Given the description of an element on the screen output the (x, y) to click on. 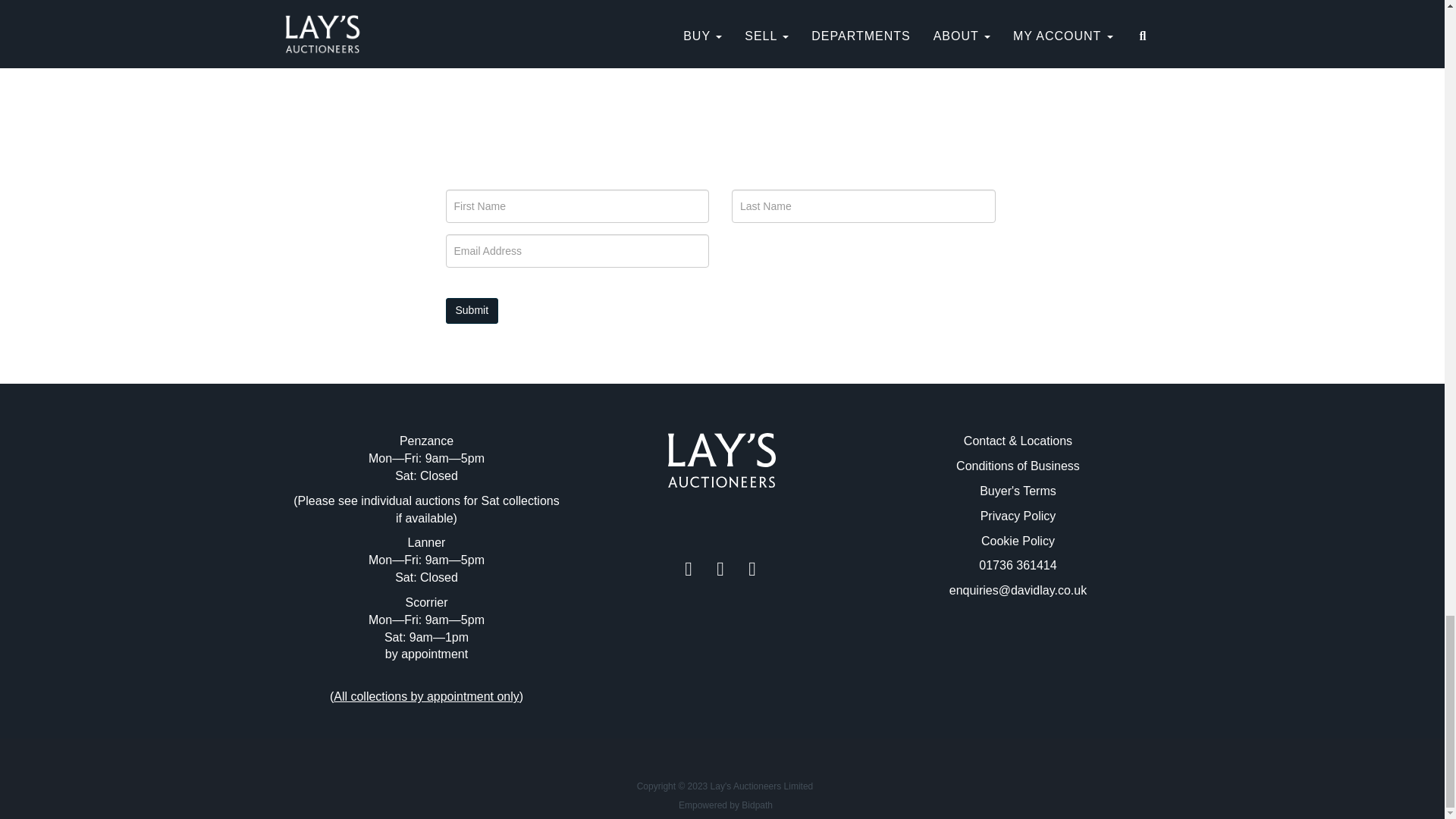
Go to our linked in page (721, 571)
Go to our facebook page (690, 571)
Submit (472, 310)
Go to our instagram page (753, 571)
